Given the description of an element on the screen output the (x, y) to click on. 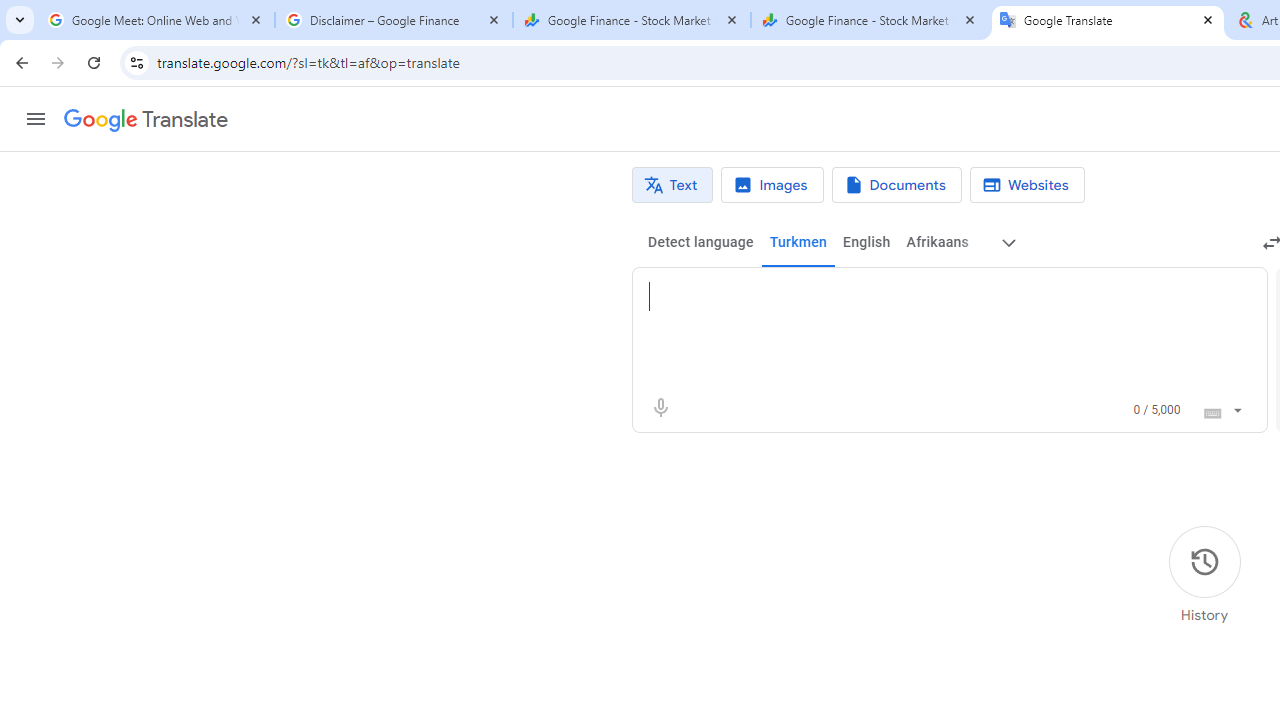
Google Translate (1108, 20)
